Given the description of an element on the screen output the (x, y) to click on. 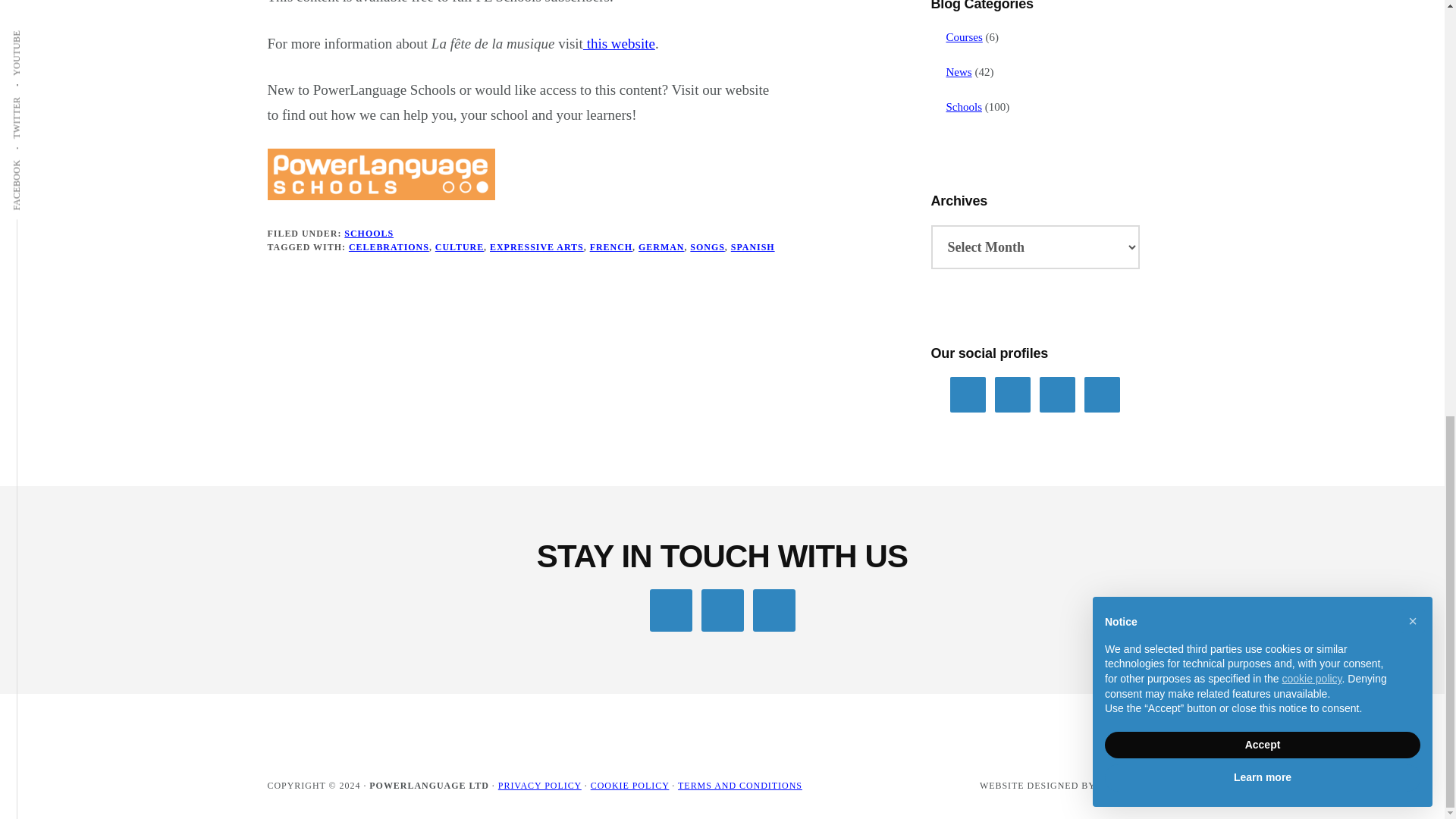
EXPRESSIVE ARTS (536, 246)
Privacy Policy (538, 785)
SCHOOLS (368, 233)
this website (619, 43)
News (959, 71)
CELEBRATIONS (389, 246)
Schools (964, 106)
FRENCH (610, 246)
Courses (964, 37)
CULTURE (459, 246)
Terms and Conditions (740, 785)
GERMAN (661, 246)
SONGS (706, 246)
Cookie Policy (630, 785)
SPANISH (752, 246)
